Given the description of an element on the screen output the (x, y) to click on. 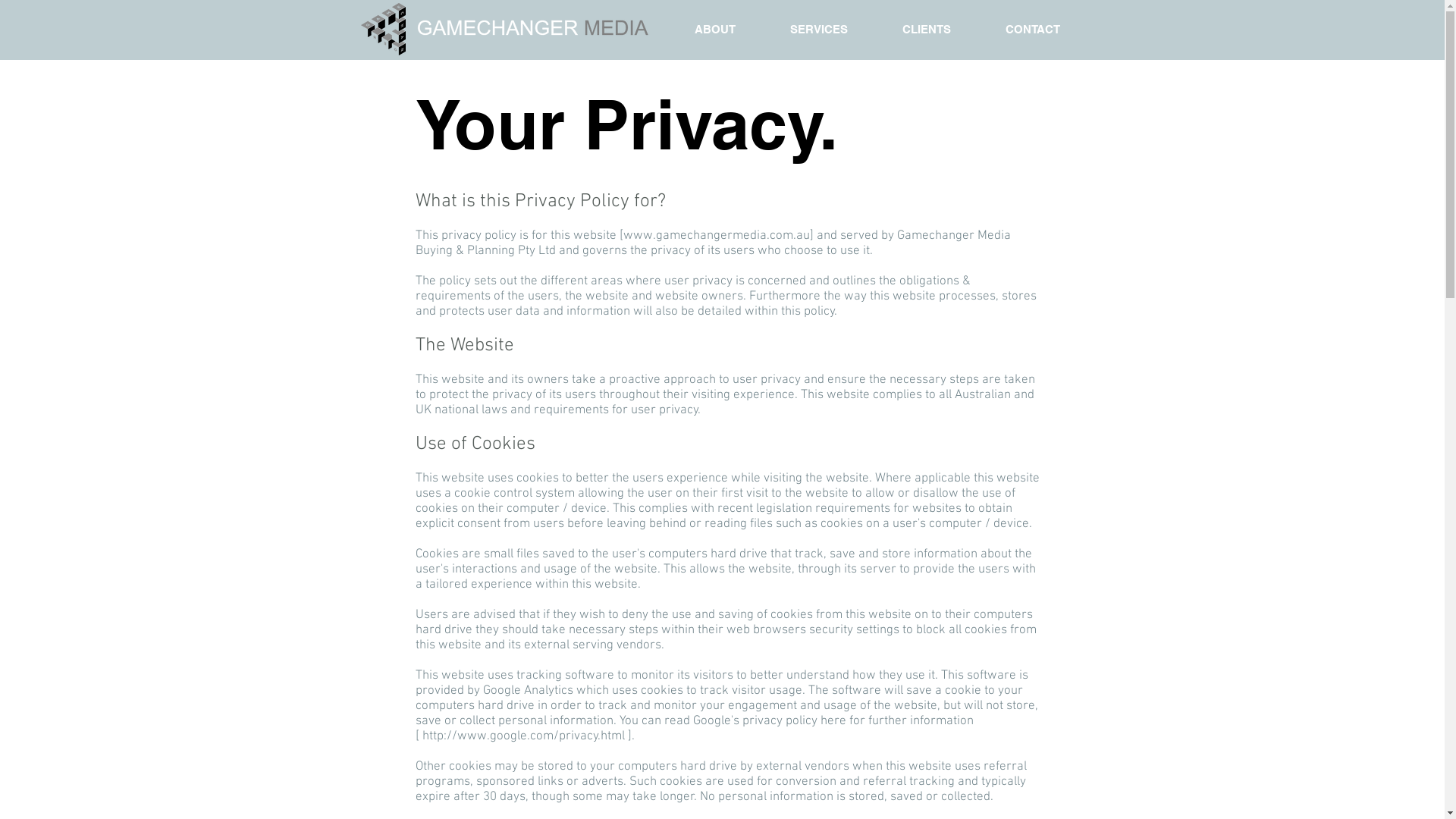
ABOUT Element type: text (714, 29)
CLIENTS Element type: text (926, 29)
http://www.google.com/privacy.html ]. Element type: text (527, 735)
SERVICES Element type: text (818, 29)
www.gamechangermedia.com.au Element type: text (716, 235)
CONTACT Element type: text (1032, 29)
